Given the description of an element on the screen output the (x, y) to click on. 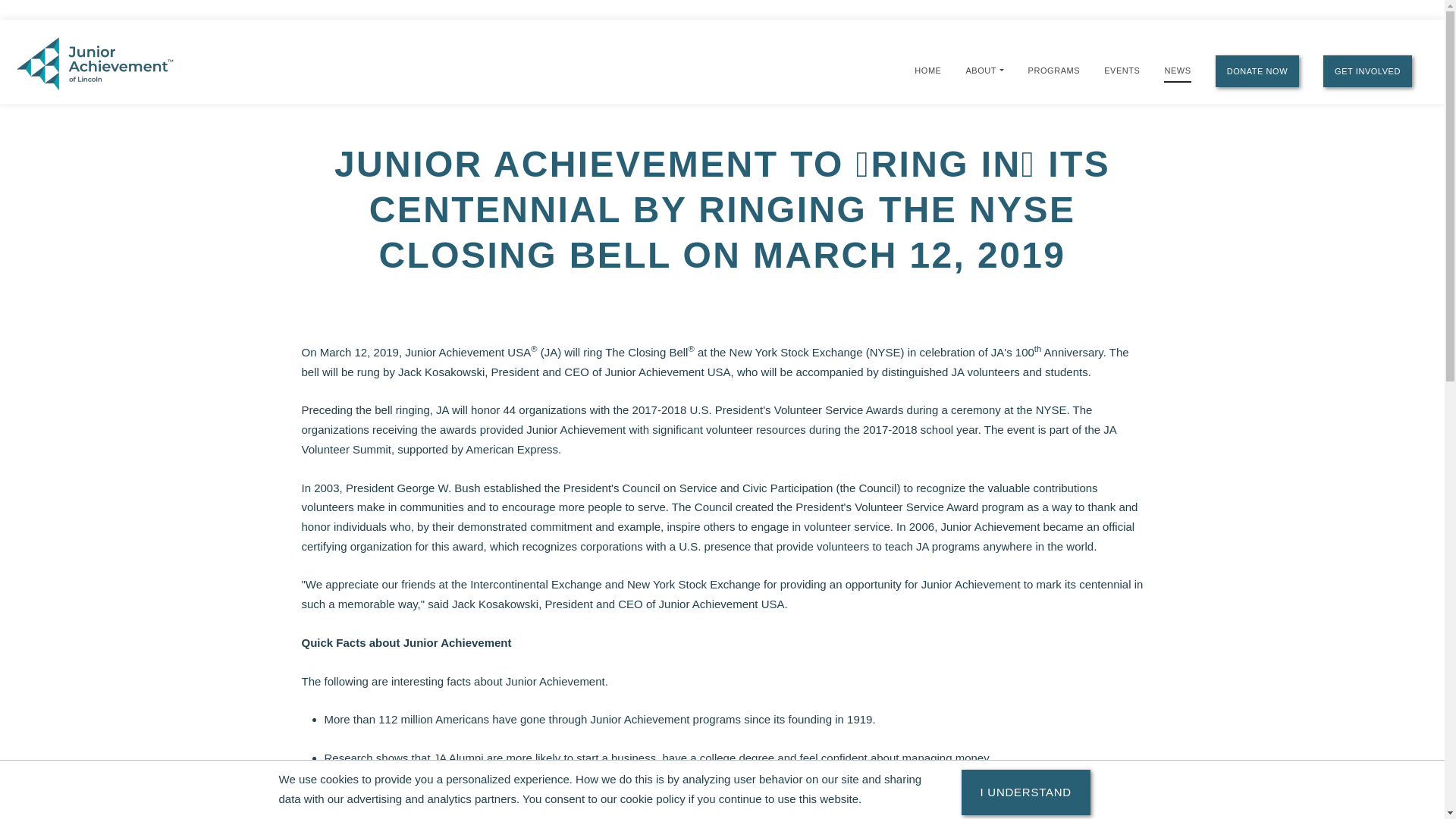
Go to home page for Junior Achievement of Lincoln (118, 62)
DONATE NOW (1256, 70)
EVENTS (1121, 70)
GET INVOLVED (1367, 70)
Go to News page (1177, 70)
HOME (927, 70)
Go to Events page (1121, 70)
Go to Programs page (1053, 70)
PROGRAMS (1053, 70)
Go to Donate Now page (1256, 70)
